Given the description of an element on the screen output the (x, y) to click on. 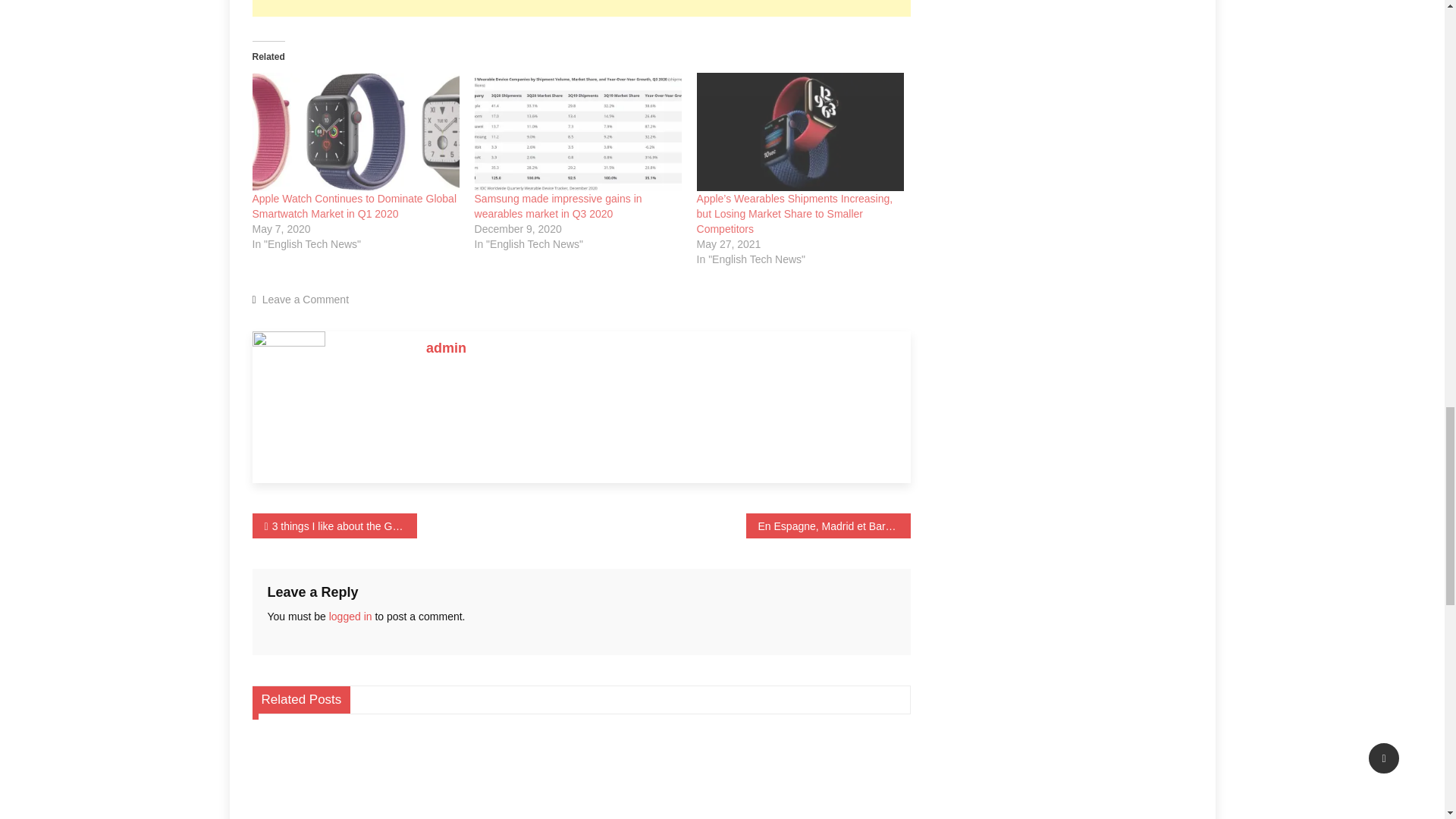
Samsung made impressive gains in wearables market in Q3 2020 (558, 206)
Posts by admin (445, 347)
Advertisement (580, 8)
Samsung made impressive gains in wearables market in Q3 2020 (577, 131)
